Given the description of an element on the screen output the (x, y) to click on. 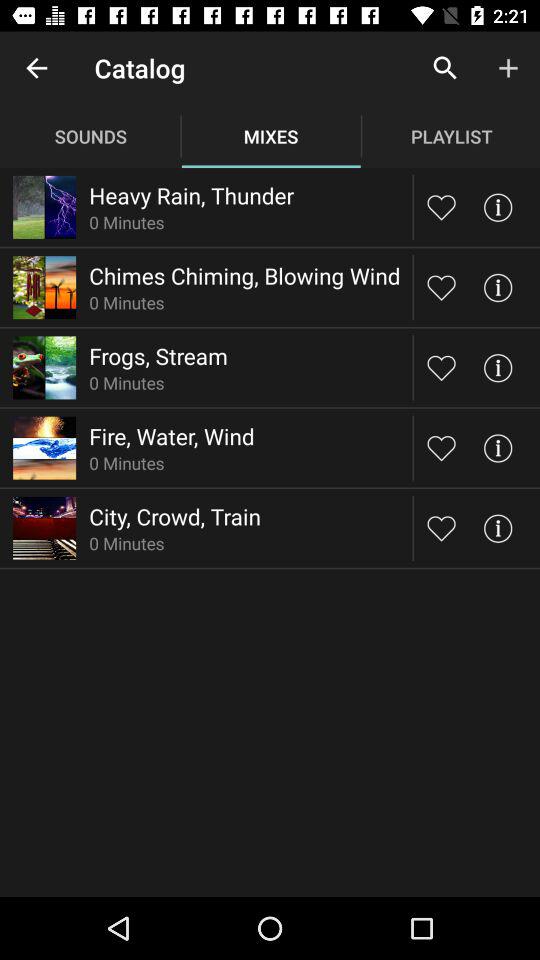
like soundmix (441, 447)
